Given the description of an element on the screen output the (x, y) to click on. 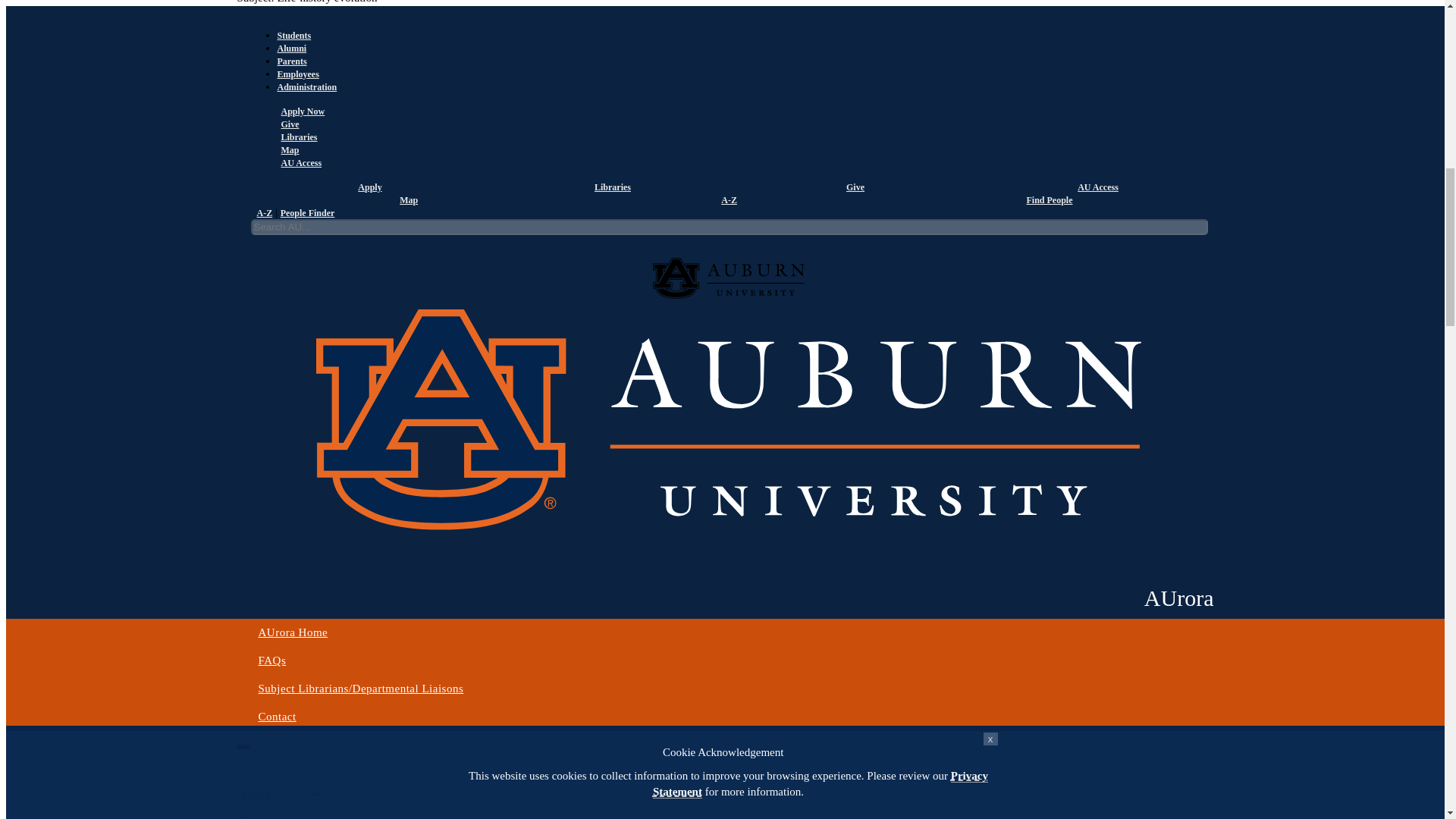
Add Filter (241, 511)
Add Filter (241, 707)
Add Filter (241, 315)
Remove (241, 550)
Remove (241, 746)
Size number tradeoff (303, 260)
Remove (241, 354)
Life-history evolution (303, 651)
Egg size (303, 455)
